Given the description of an element on the screen output the (x, y) to click on. 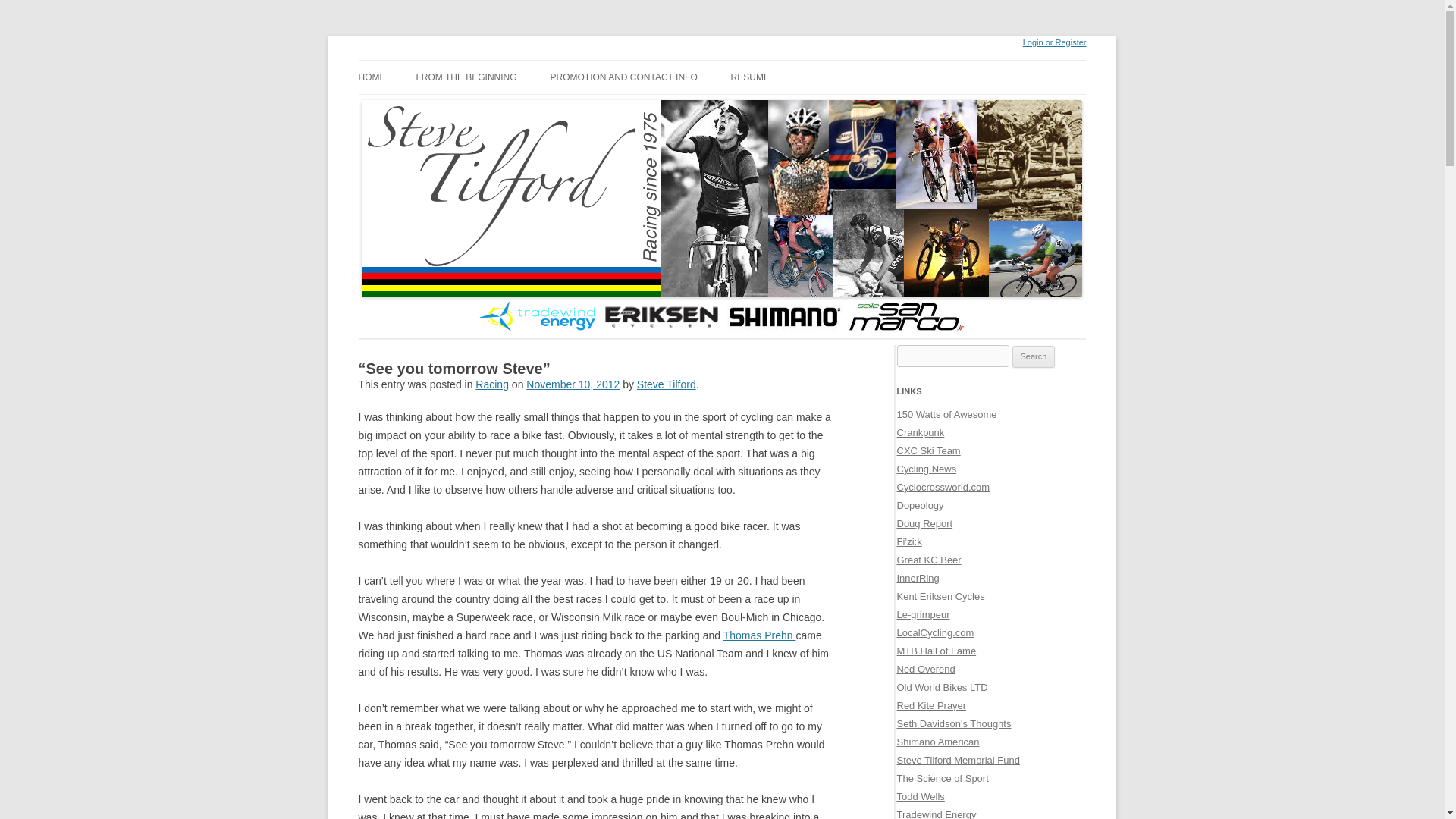
Steve Tilford (417, 59)
Great KC Beer (928, 559)
Skip to content (375, 62)
Search (1033, 356)
RESUME (750, 77)
View all posts by Steve Tilford (666, 384)
Racing (492, 384)
Thomas Prehn (759, 635)
Steve Tilford (417, 59)
10:47 am (572, 384)
Kent Eriksen Cycles (940, 595)
Steve Tilford (666, 384)
PROMOTION AND CONTACT INFO (623, 77)
November 10, 2012 (572, 384)
FROM THE BEGINNING (465, 77)
